Given the description of an element on the screen output the (x, y) to click on. 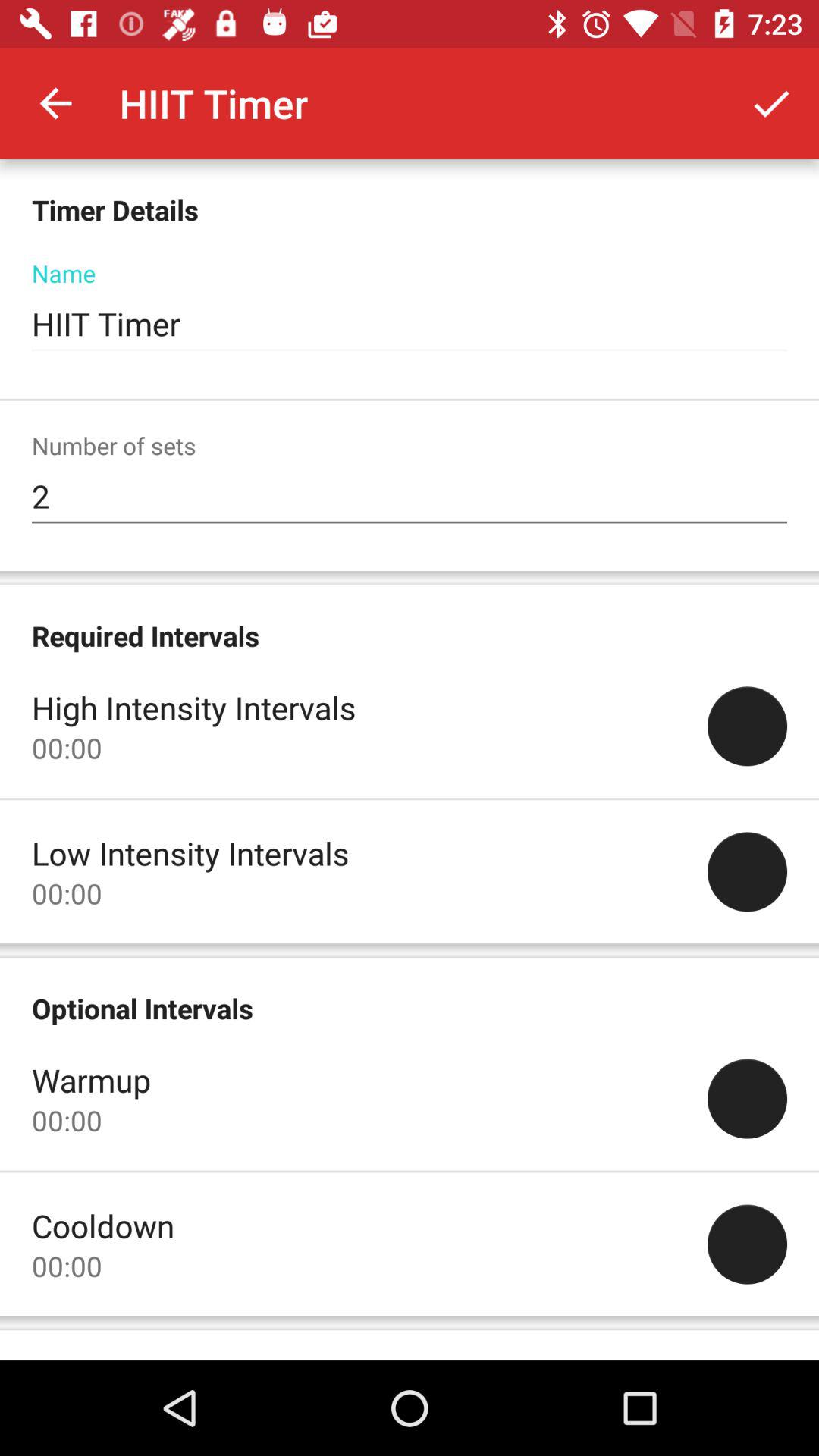
tap app next to the hiit timer (771, 103)
